Given the description of an element on the screen output the (x, y) to click on. 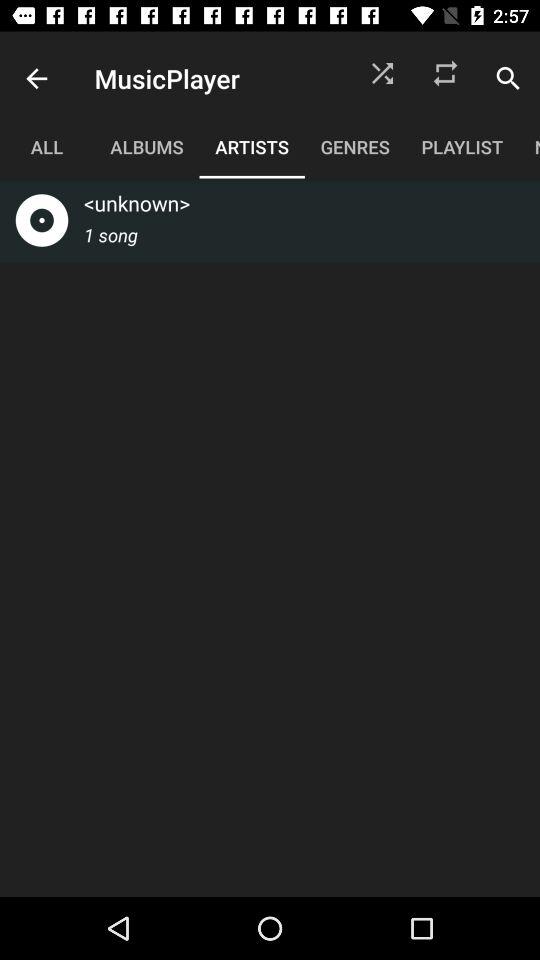
turn on icon above the playlist item (444, 78)
